Given the description of an element on the screen output the (x, y) to click on. 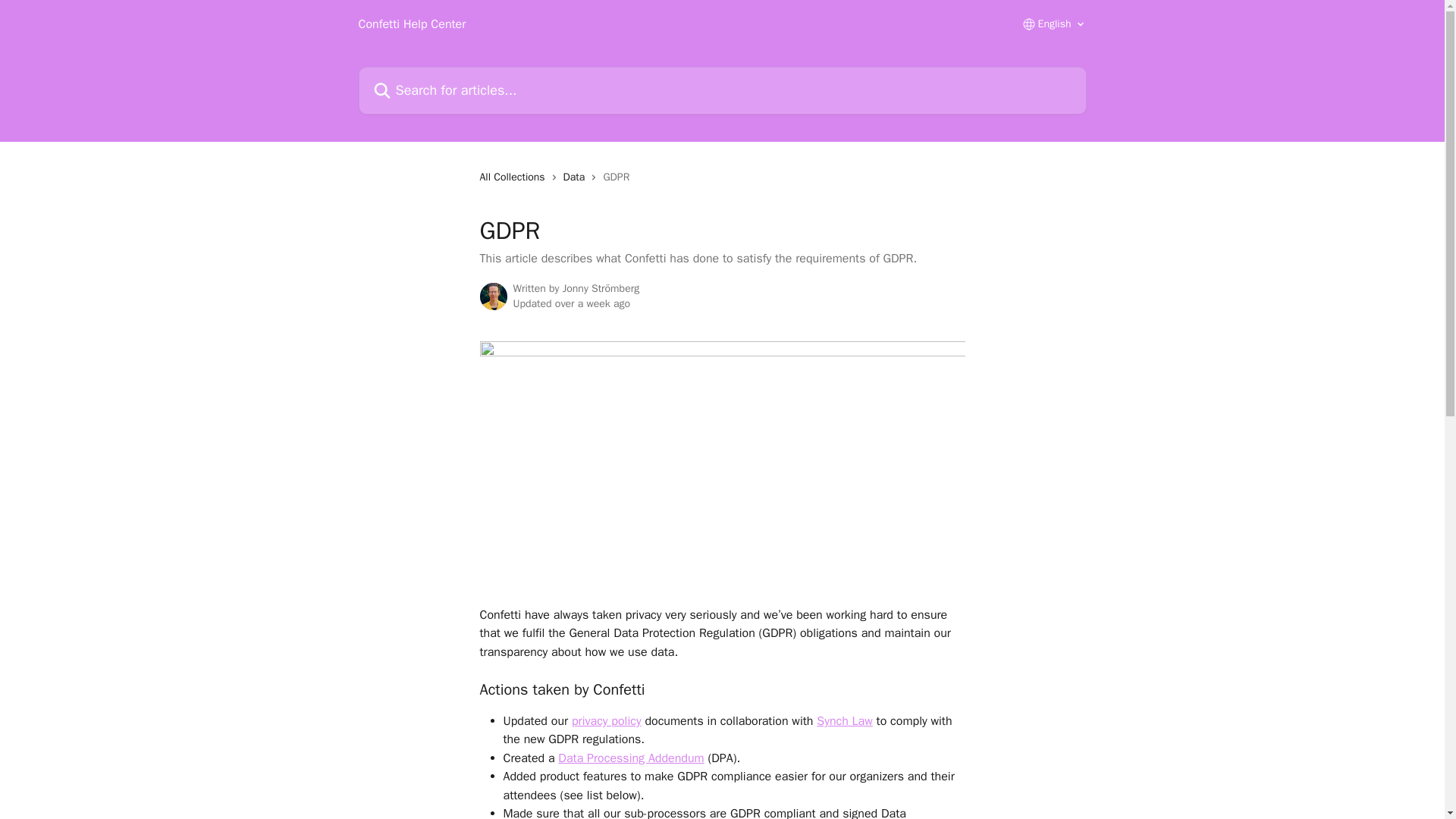
Data Processing Addendum (630, 758)
All Collections (514, 176)
privacy policy (607, 720)
Data (577, 176)
Synch Law (844, 720)
